Given the description of an element on the screen output the (x, y) to click on. 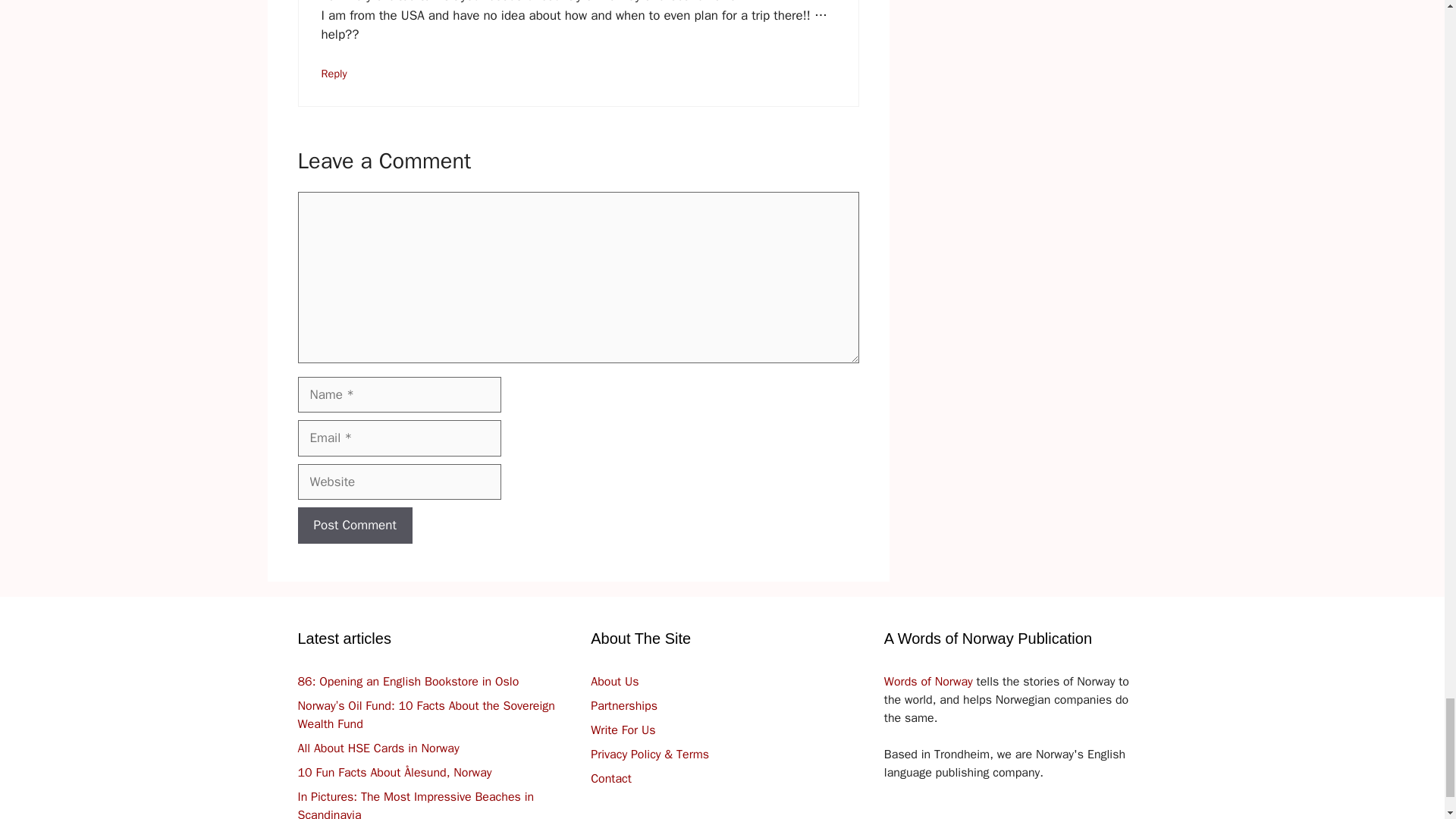
Post Comment (354, 524)
